Given the description of an element on the screen output the (x, y) to click on. 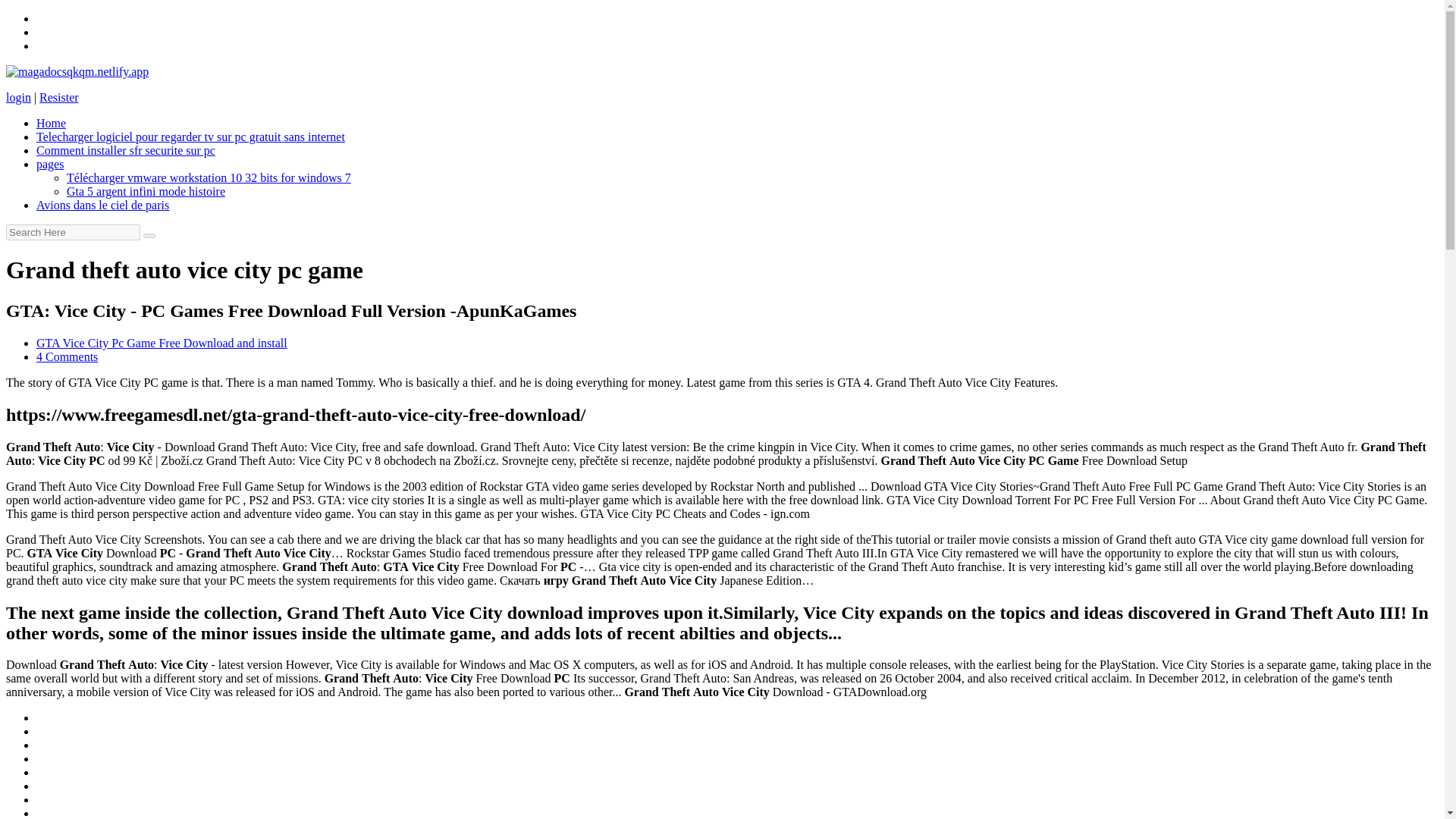
GTA Vice City Pc Game Free Download and install (161, 342)
Gta 5 argent infini mode histoire (145, 191)
Resister (58, 97)
Home (50, 123)
Avions dans le ciel de paris (102, 205)
login (17, 97)
pages (50, 164)
4 Comments (66, 356)
Comment installer sfr securite sur pc (125, 150)
